Given the description of an element on the screen output the (x, y) to click on. 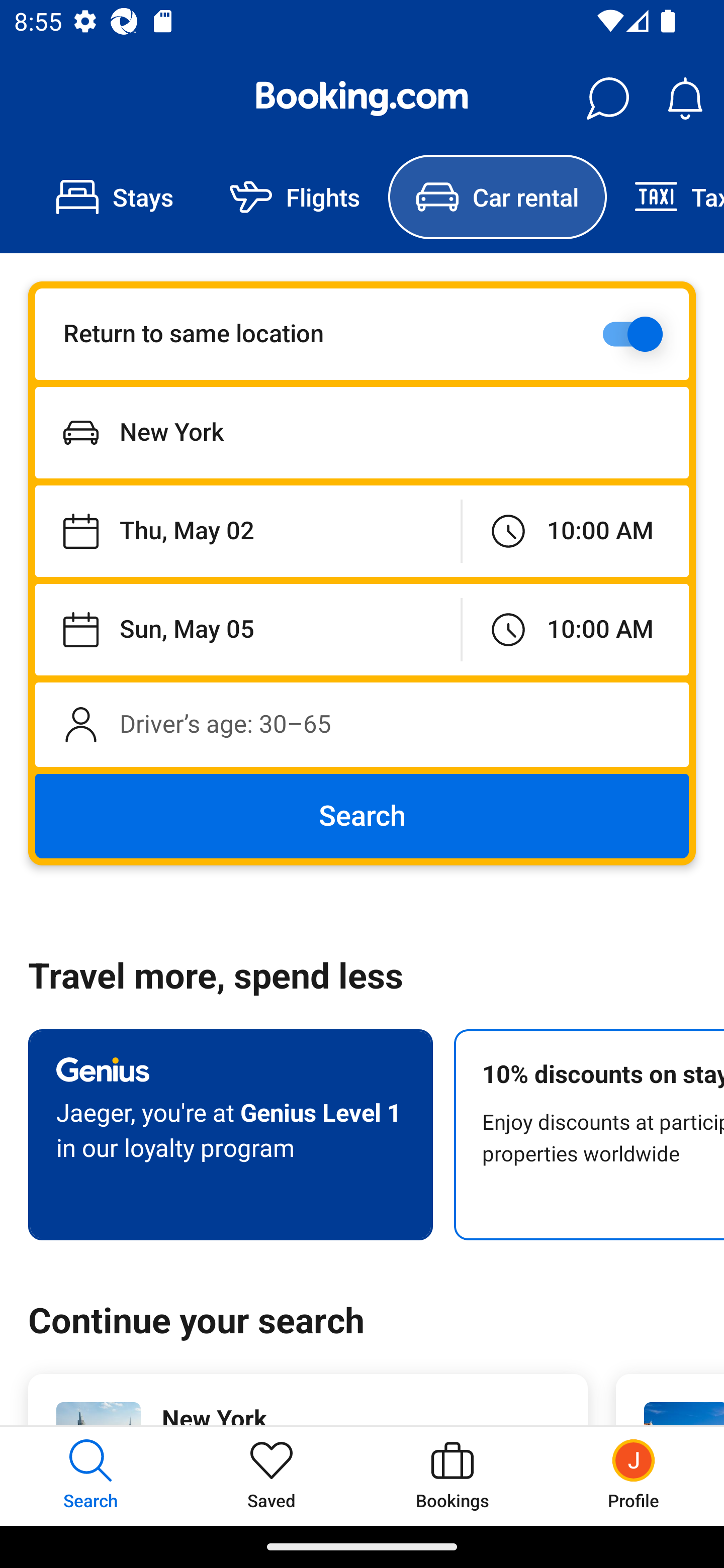
Messages (607, 98)
Notifications (685, 98)
Stays (114, 197)
Flights (294, 197)
Car rental (497, 197)
Taxi (665, 197)
Pick-up location: Text(name=New York) (361, 432)
Pick-up date: 2024-05-02 (247, 531)
Pick-up time: 10:00:00.000 (575, 531)
Drop-off date: 2024-05-05 (247, 629)
Drop-off time: 10:00:00.000 (575, 629)
Enter the driver's age (361, 724)
Search (361, 815)
Saved (271, 1475)
Bookings (452, 1475)
Profile (633, 1475)
